Given the description of an element on the screen output the (x, y) to click on. 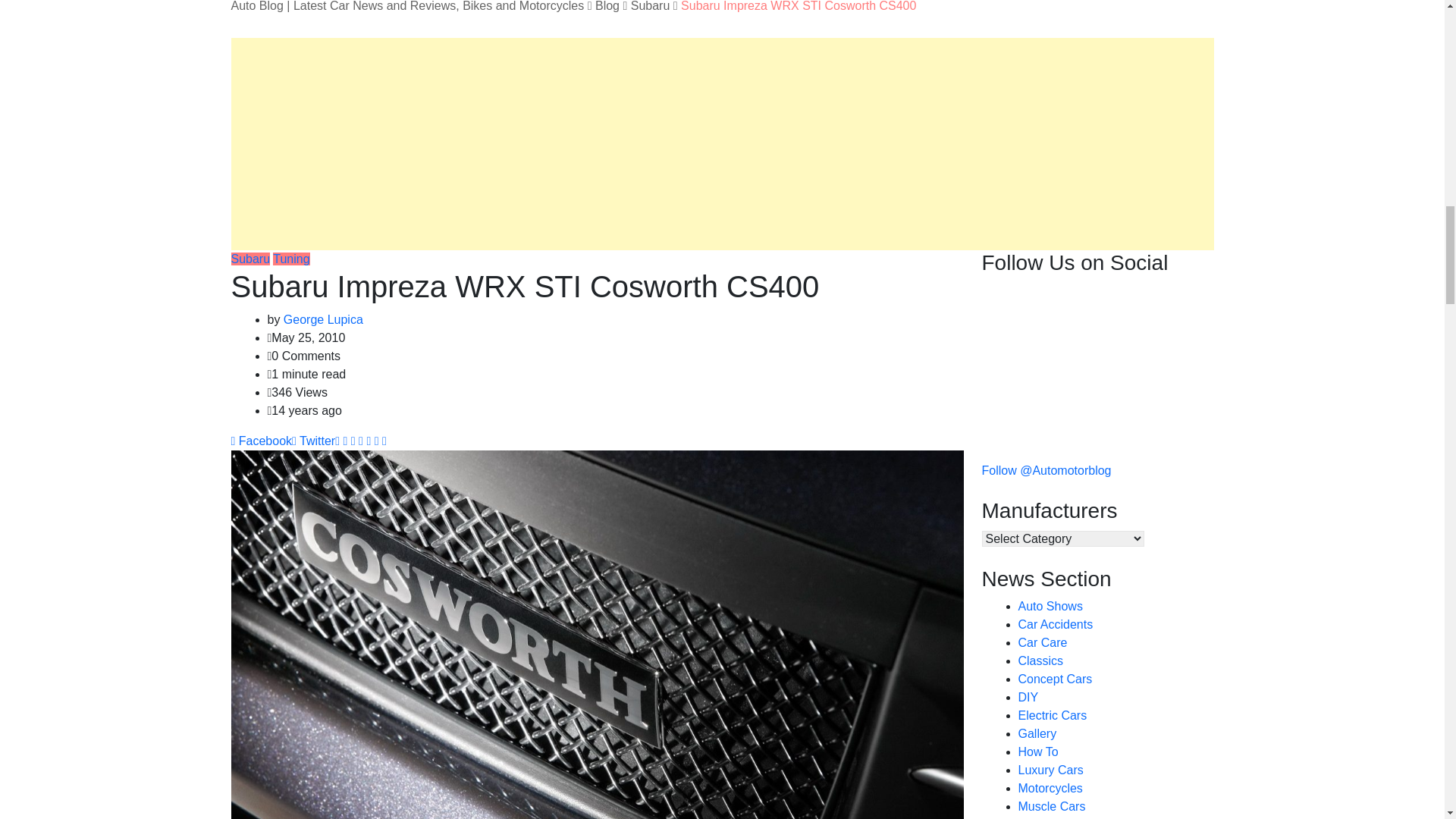
Go to Blog. (607, 6)
Go to the Subaru Category archives. (649, 6)
Posts by George Lupica (322, 318)
